Given the description of an element on the screen output the (x, y) to click on. 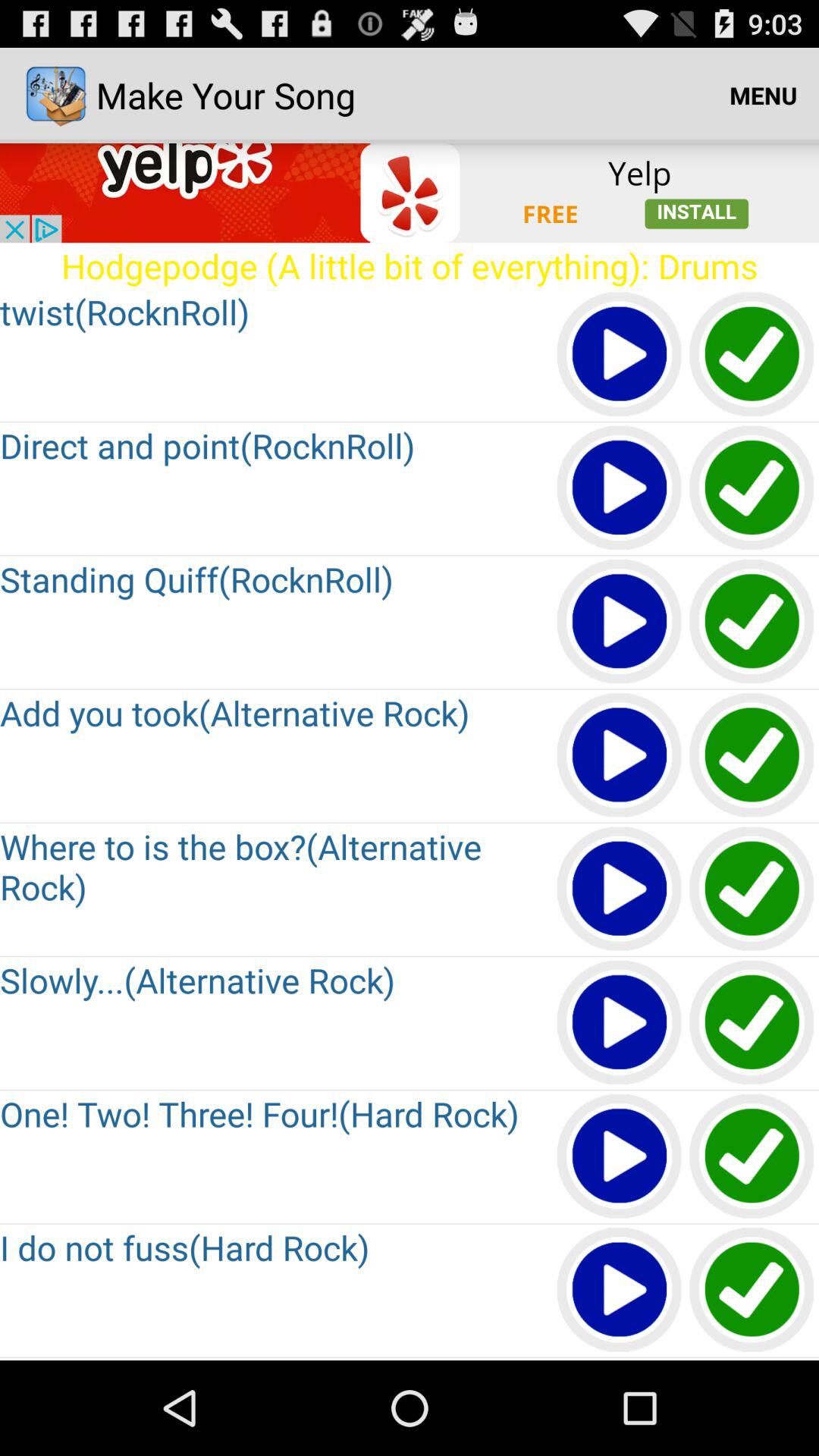
play (619, 354)
